Given the description of an element on the screen output the (x, y) to click on. 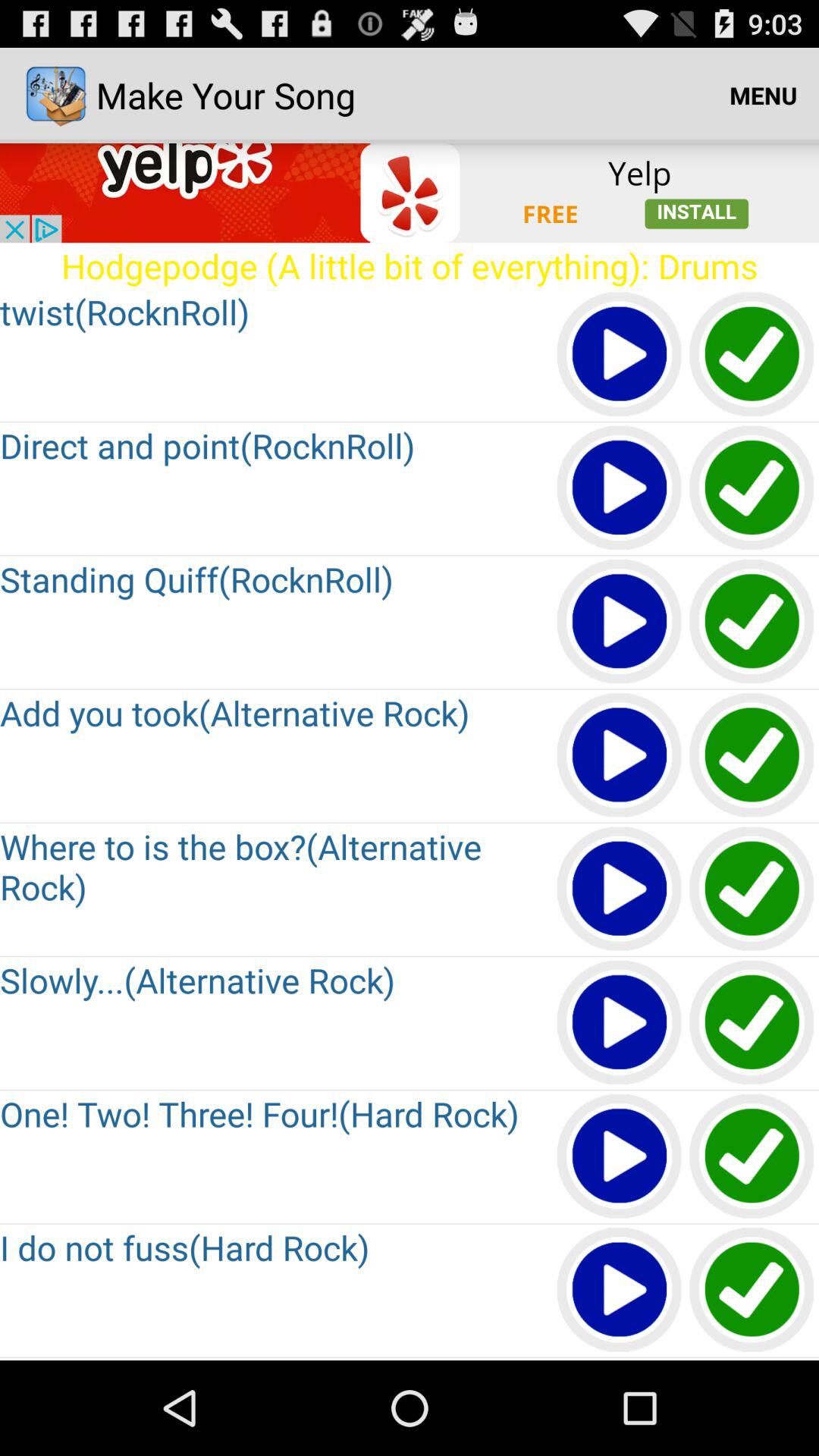
play (619, 354)
